Given the description of an element on the screen output the (x, y) to click on. 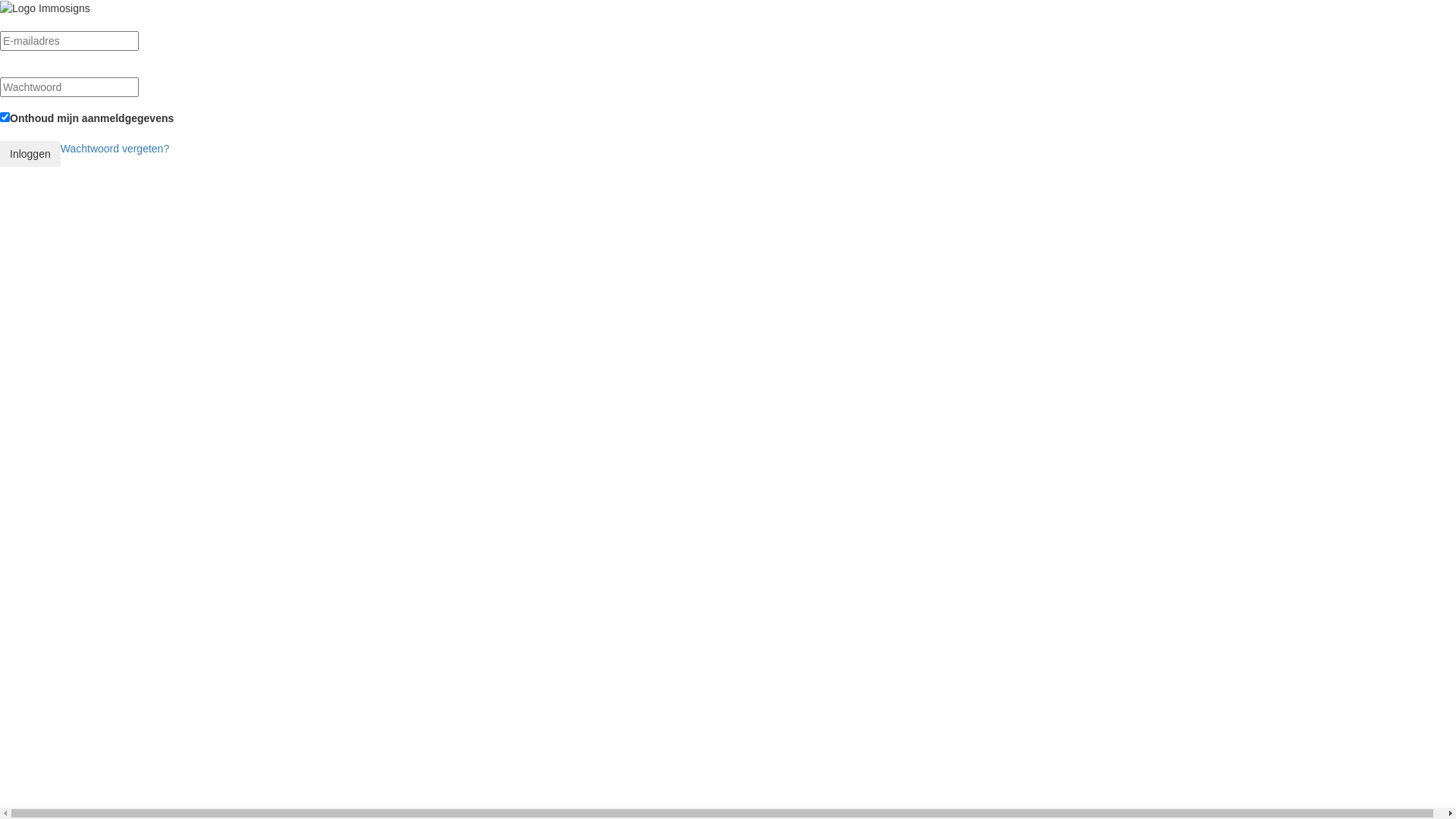
Wachtwoord vergeten? Element type: text (114, 148)
Inloggen Element type: text (30, 153)
